Given the description of an element on the screen output the (x, y) to click on. 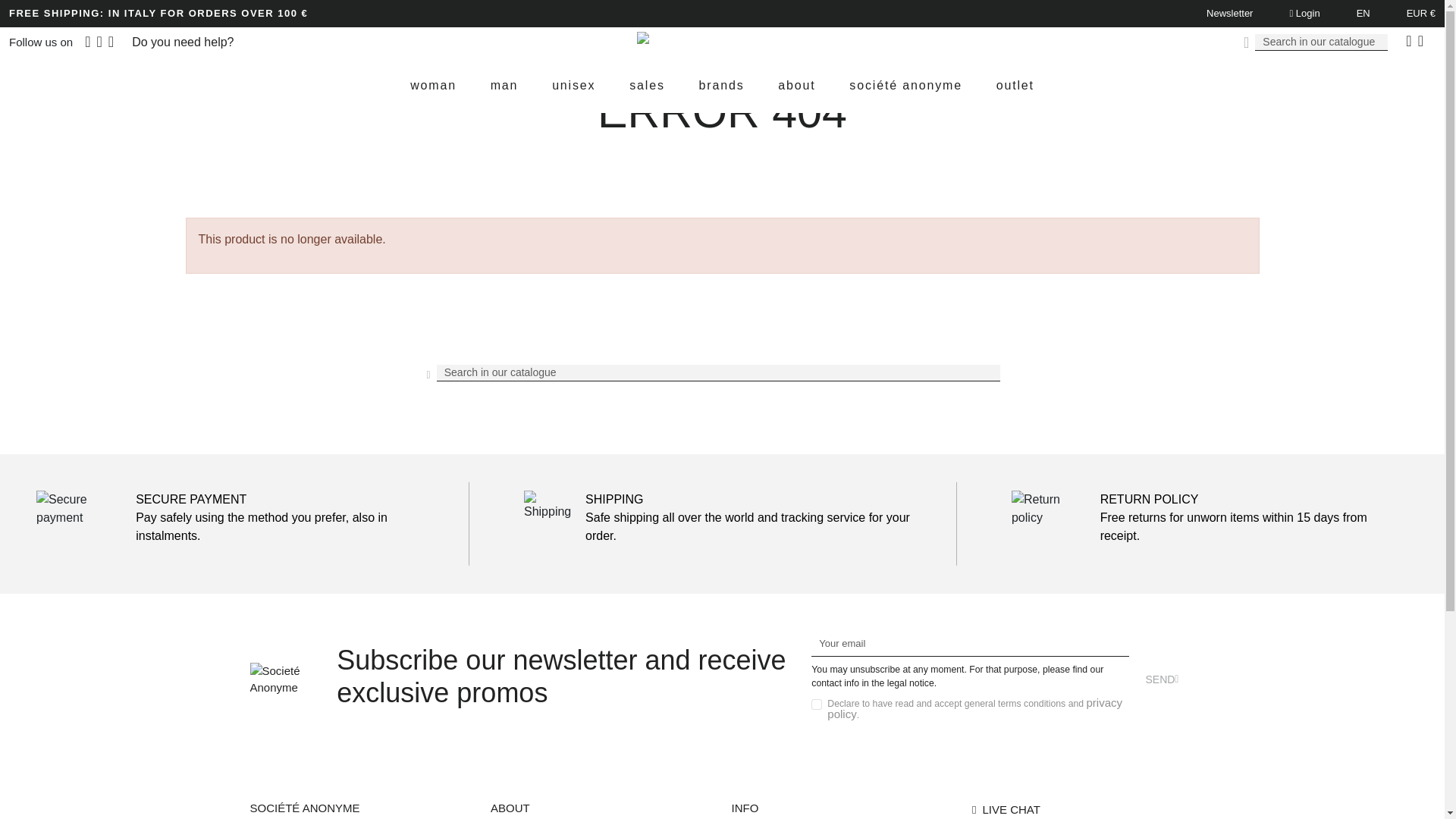
Do you need help? (182, 42)
Newsletter (1229, 13)
Do you need help? (182, 42)
woman (433, 85)
EN (1363, 12)
Login to your customer account (1303, 12)
Login (1303, 12)
1 (816, 704)
woman (433, 85)
man (503, 85)
